Given the description of an element on the screen output the (x, y) to click on. 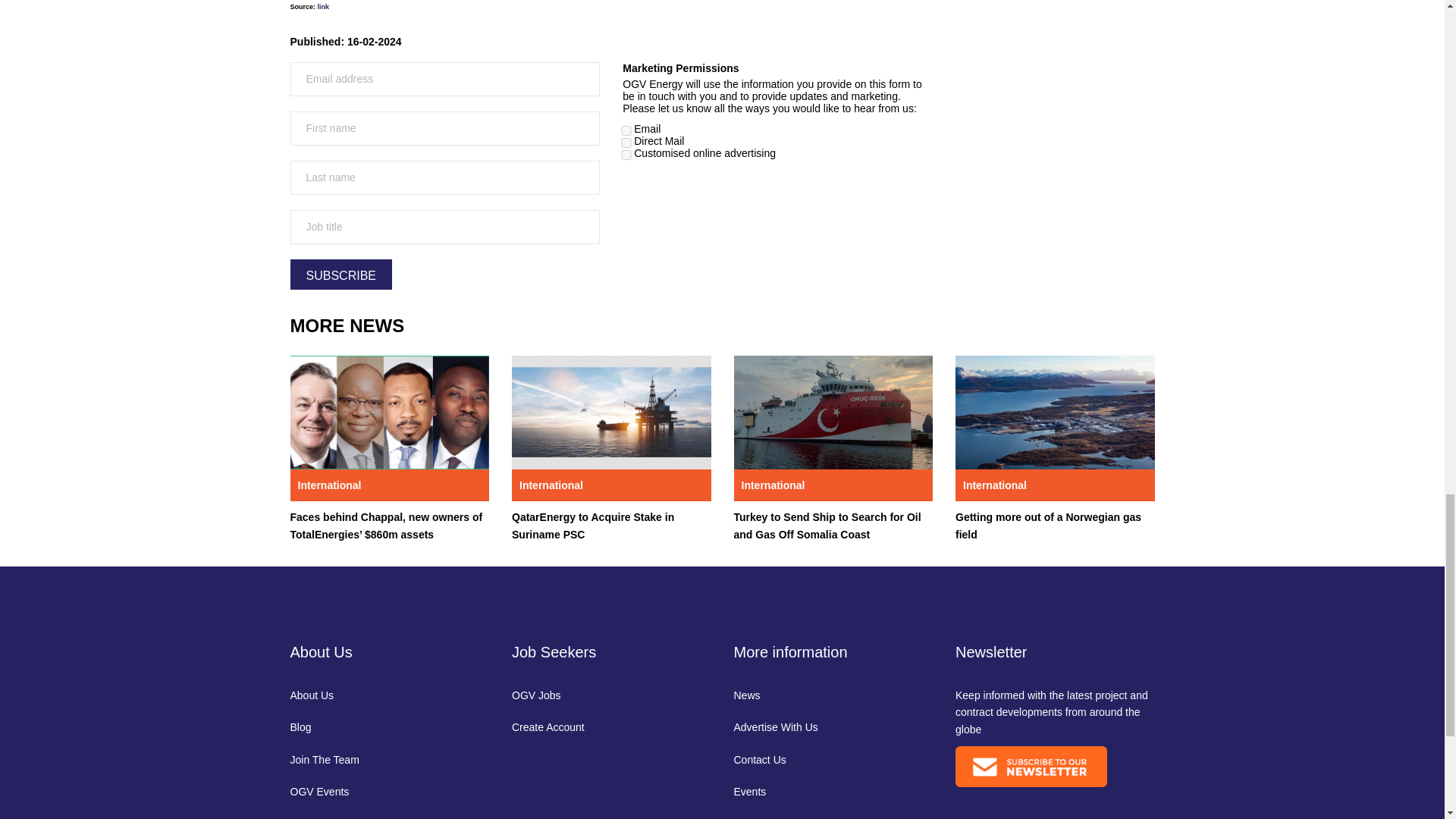
Y (625, 130)
Y (625, 154)
SUBSCRIBE (340, 274)
Y (625, 143)
link (323, 6)
